Given the description of an element on the screen output the (x, y) to click on. 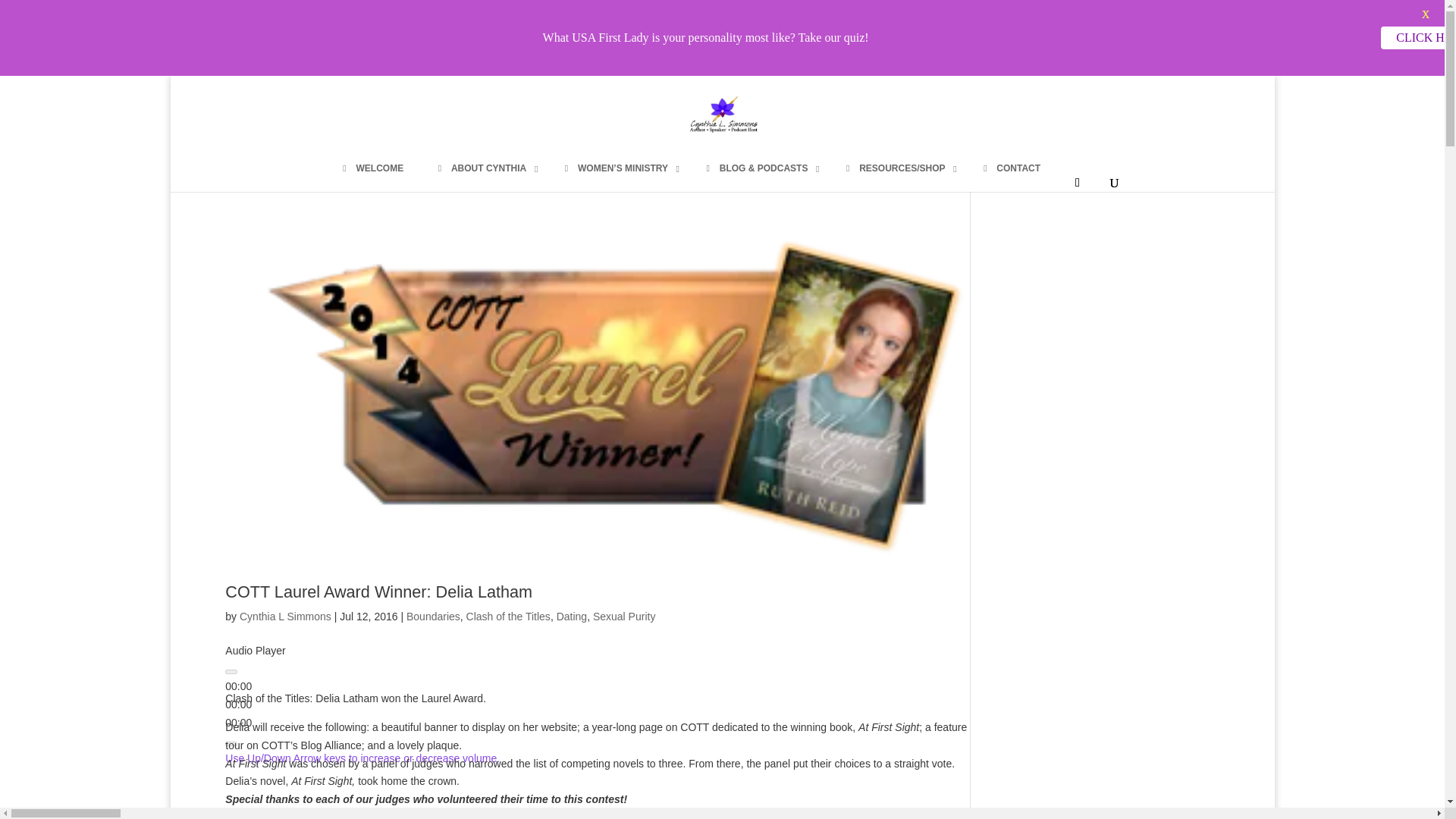
Mute (231, 744)
WELCOME (371, 168)
Posts by Cynthia L Simmons (285, 616)
COTT Laurel Award Winner: Delia Latham (378, 591)
CONTACT (1010, 168)
Play (231, 671)
Boundaries (433, 616)
ABOUT CYNTHIA (481, 168)
Cynthia L Simmons (285, 616)
